Given the description of an element on the screen output the (x, y) to click on. 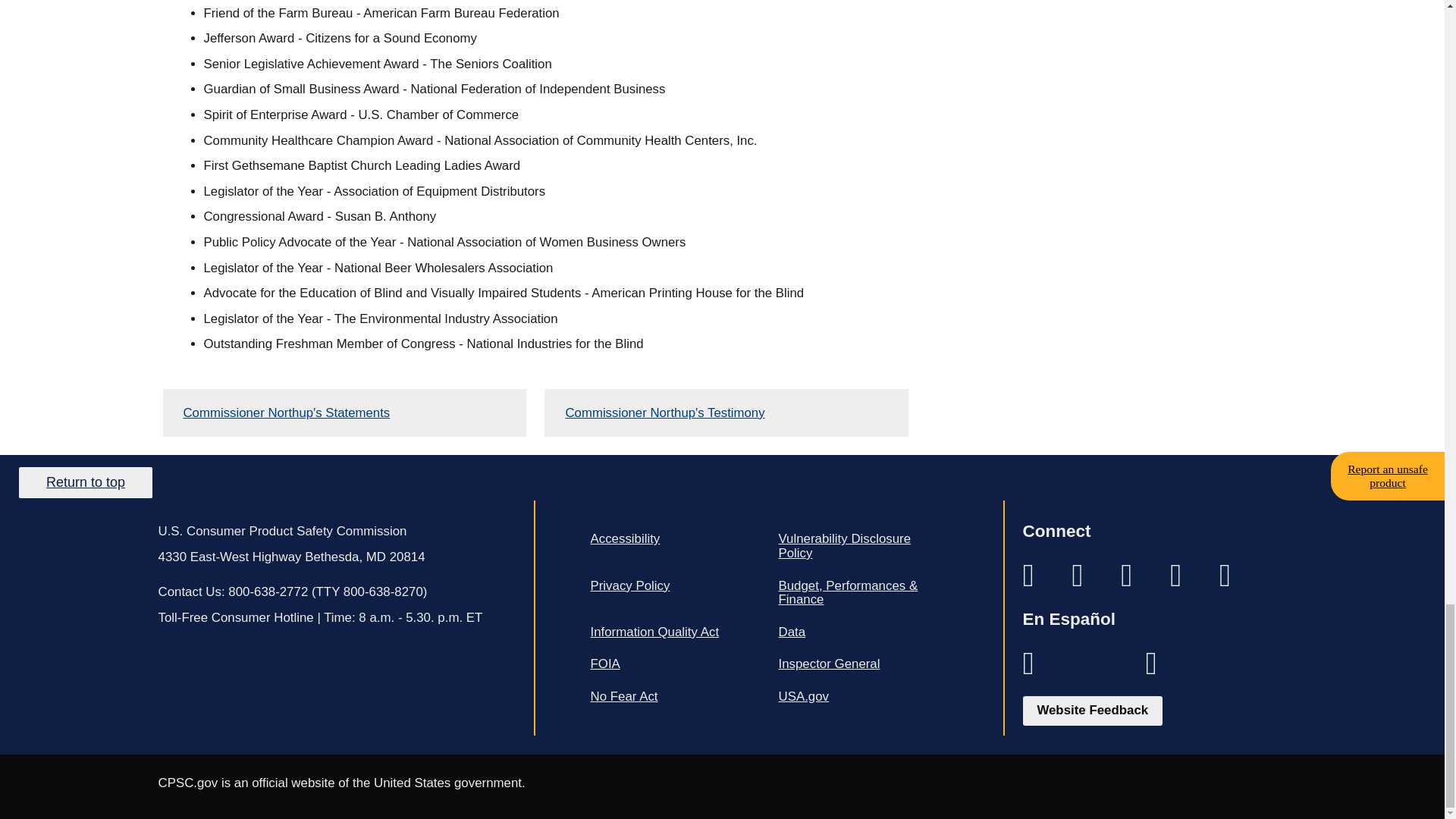
FOIA (674, 664)
Return to top (84, 481)
Vulnerability Disclosure Policy (862, 546)
No Fear Act (674, 696)
Accessibility (674, 539)
Privacy Policy (674, 586)
Data (862, 632)
Commissioner Northup's Statements (343, 413)
USA.gov (862, 696)
Information Quality Act (674, 632)
